Given the description of an element on the screen output the (x, y) to click on. 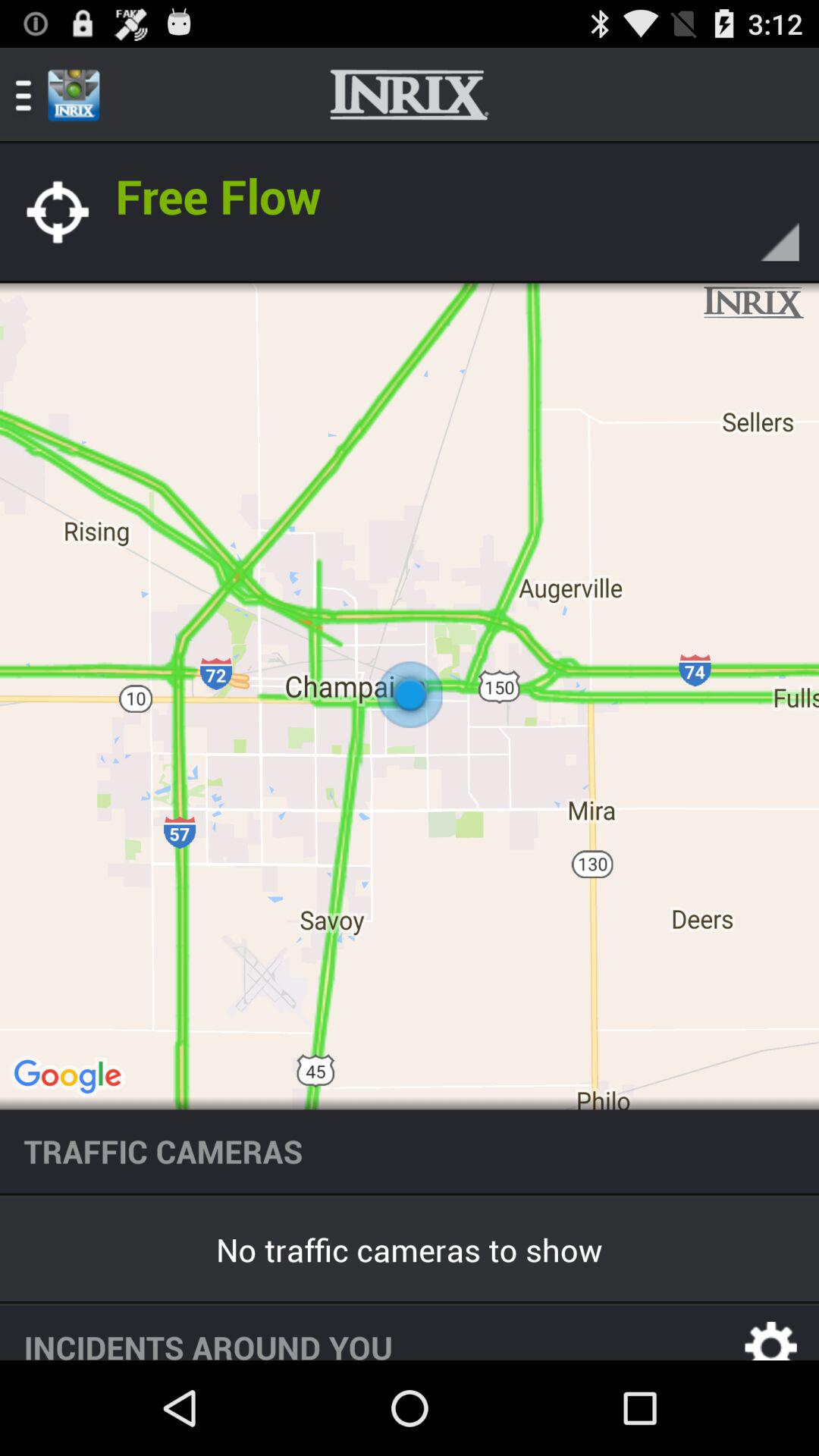
setting (771, 1332)
